Given the description of an element on the screen output the (x, y) to click on. 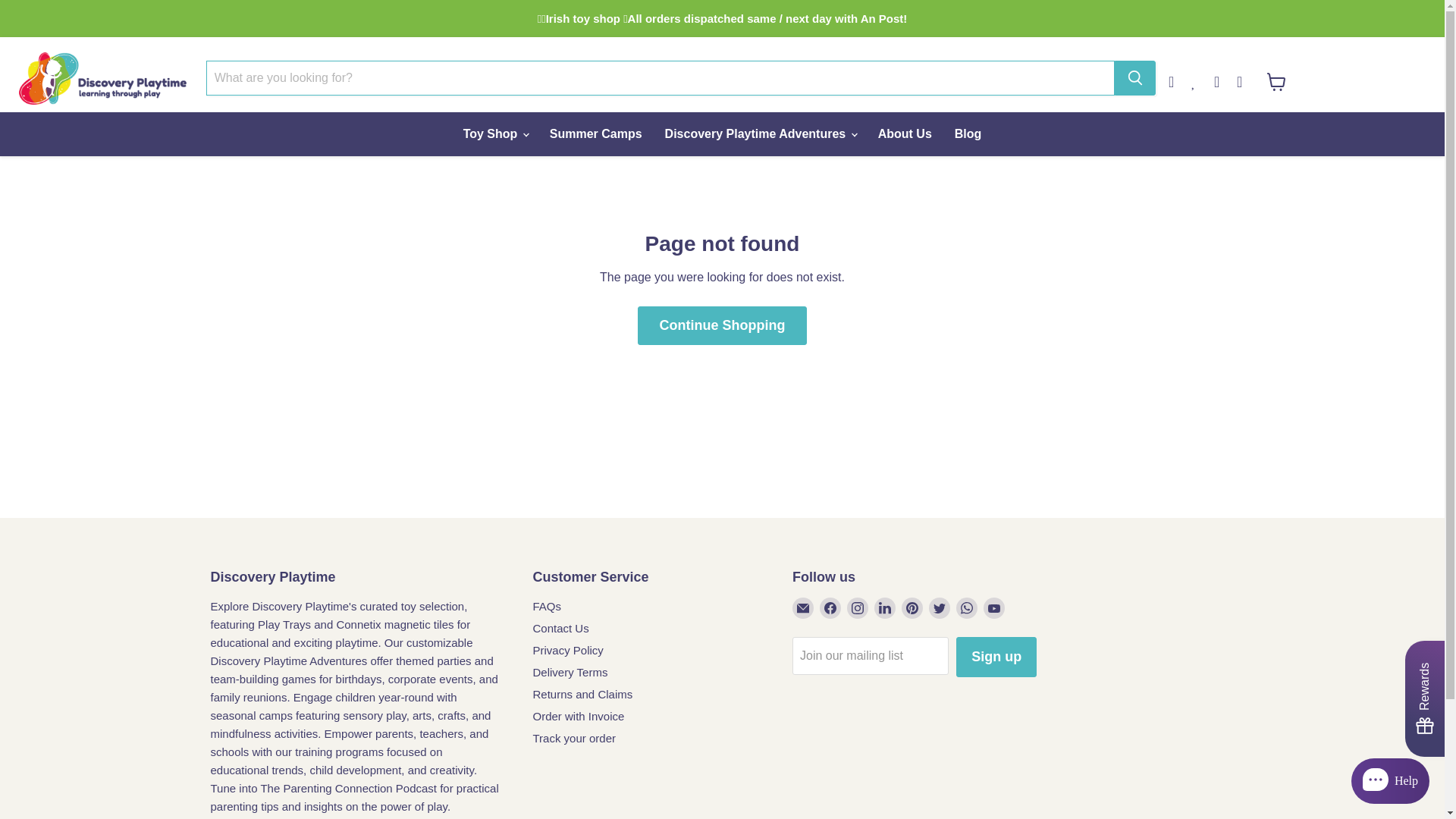
My Account (1180, 77)
Facebook (830, 608)
About Us (904, 133)
YouTube (994, 608)
Instagram (857, 608)
Email (802, 608)
Summer Camps (595, 133)
LinkedIn (885, 608)
View cart (1275, 81)
Pinterest (912, 608)
wishlist (1202, 77)
Twitter (939, 608)
WhatsApp (966, 608)
Blog (967, 133)
Instagram (1247, 77)
